Given the description of an element on the screen output the (x, y) to click on. 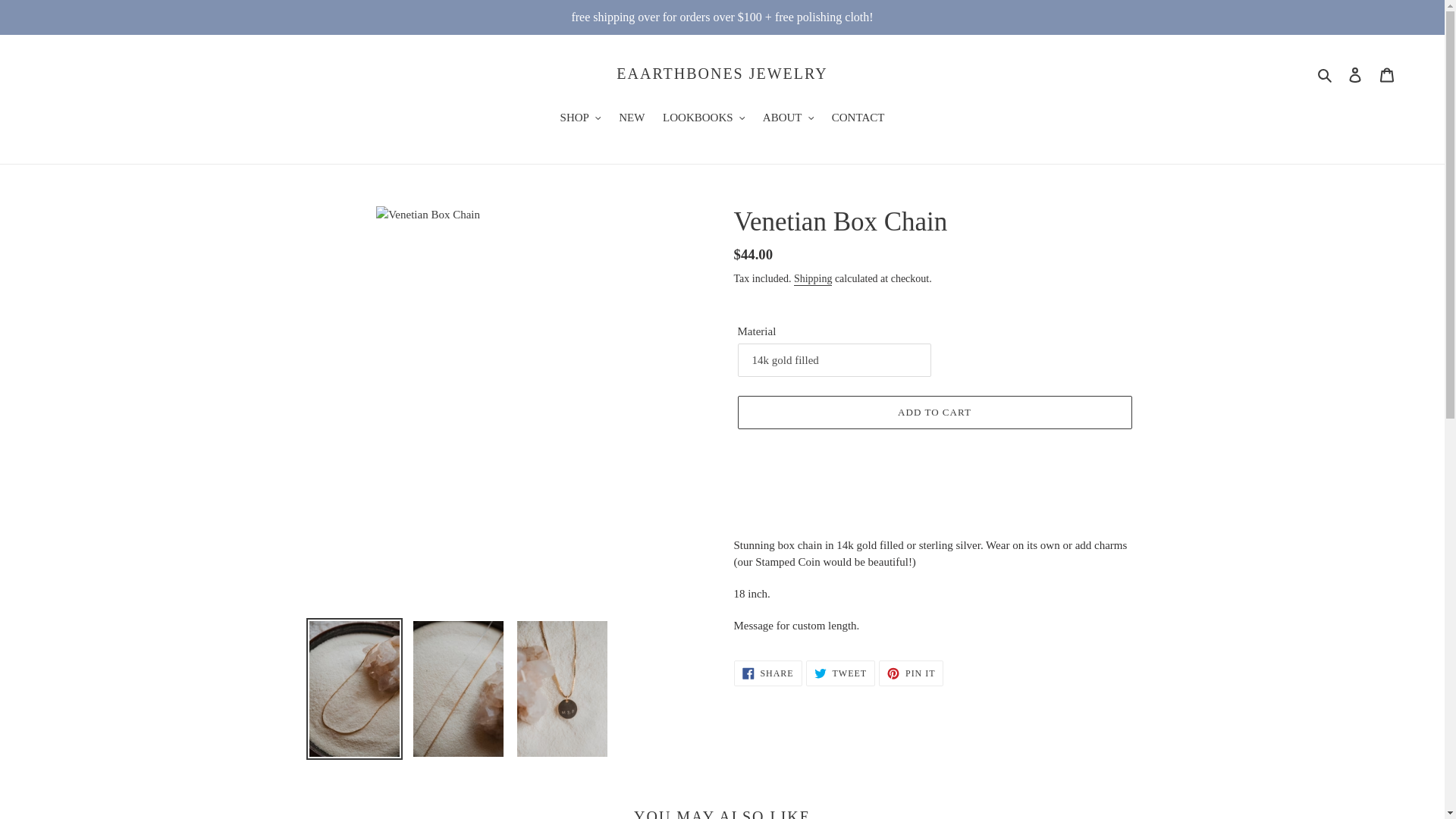
EAARTHBONES JEWELRY (721, 73)
Log in (1355, 73)
Cart (1387, 73)
Search (1326, 73)
